Given the description of an element on the screen output the (x, y) to click on. 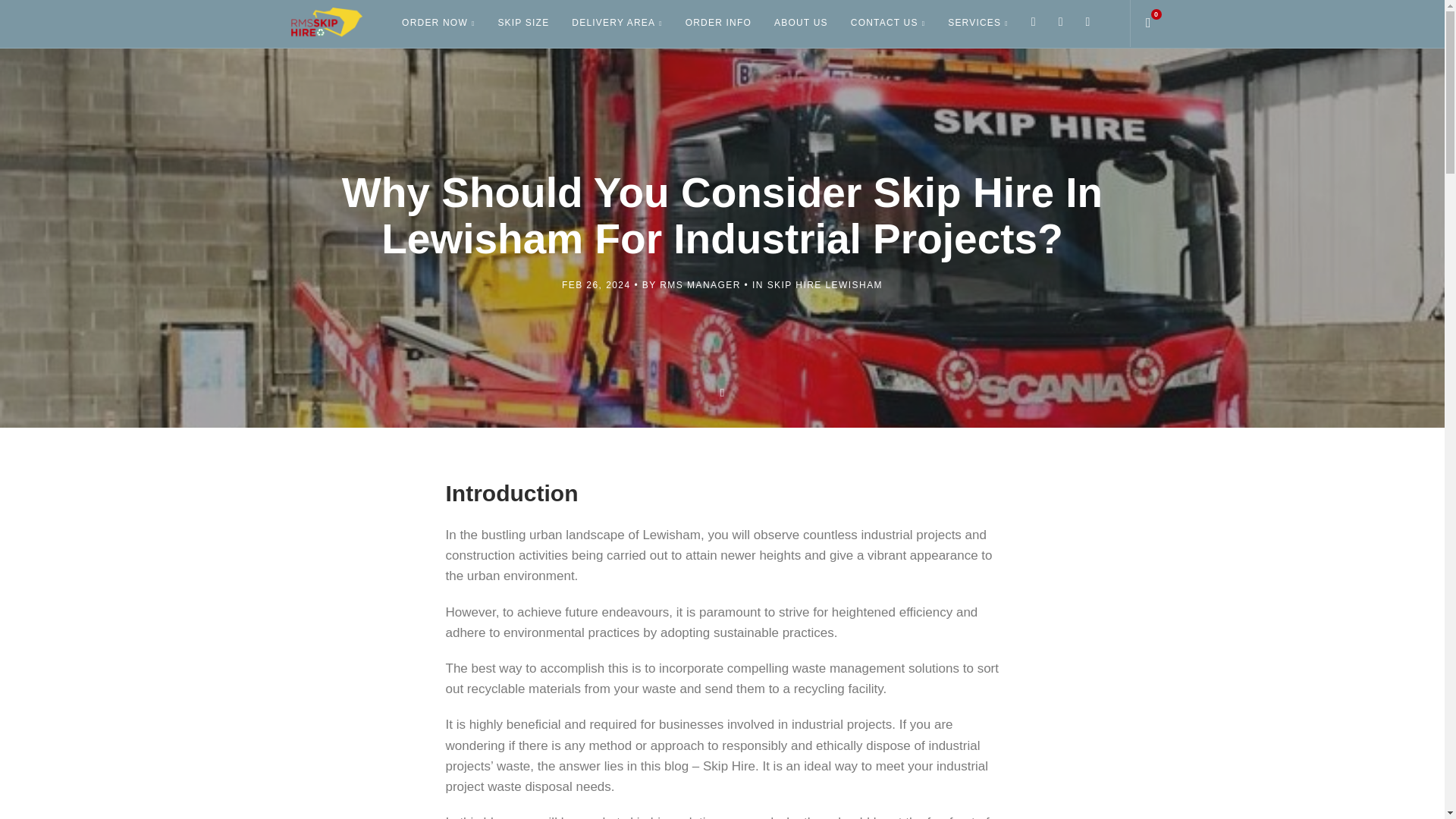
CONTACT US (888, 23)
ORDER NOW (438, 23)
ABOUT US (801, 23)
DELIVERY AREA (616, 23)
SKIP SIZE (523, 23)
SERVICES (978, 23)
Posts by RMS Manager (700, 285)
ORDER INFO (718, 23)
